Given the description of an element on the screen output the (x, y) to click on. 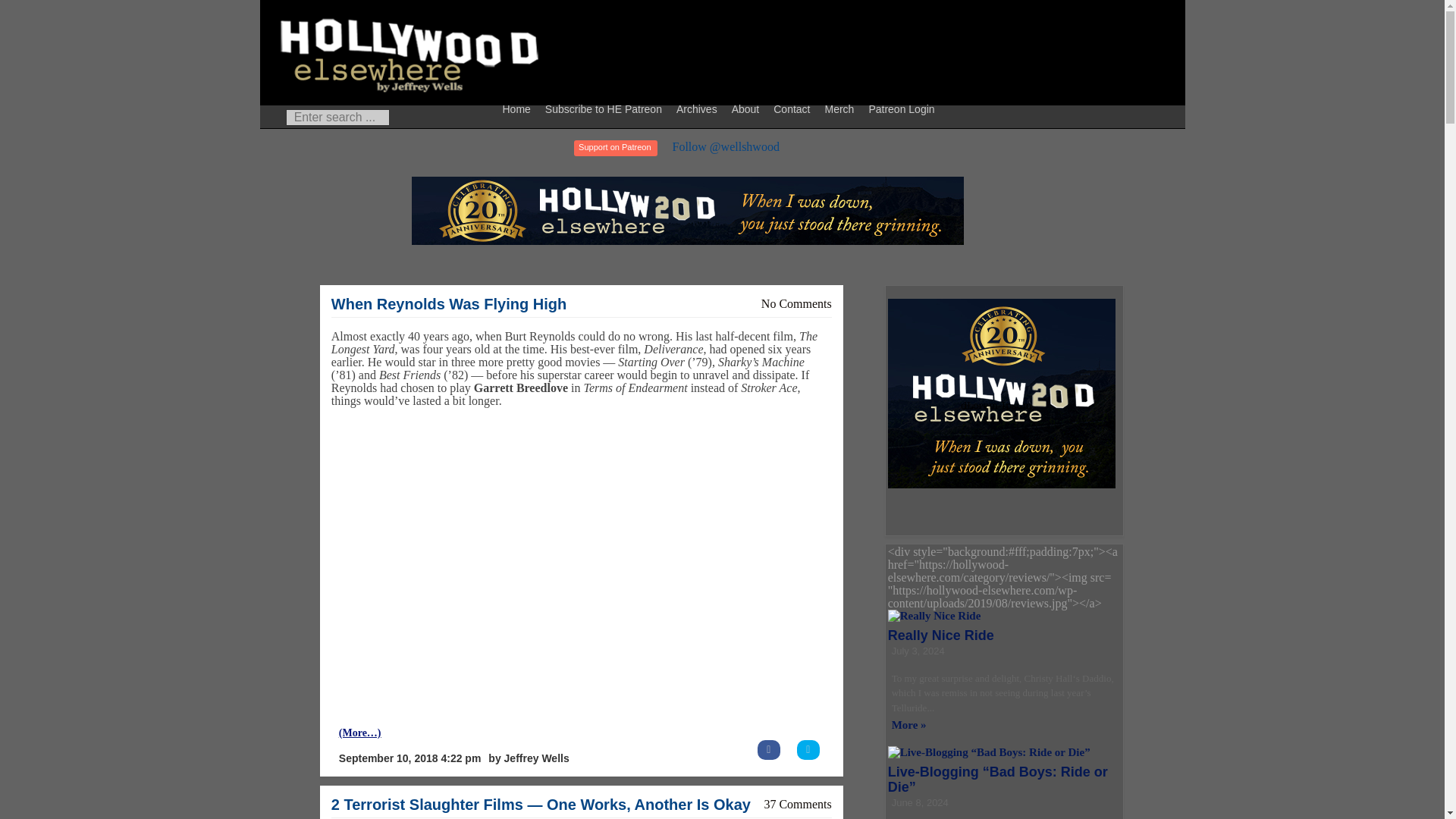
by Jeffrey Wells (528, 758)
Merch (841, 108)
When Reynolds Was Flying High (448, 303)
37 Comments (796, 803)
September 10, 2018 4:22 pm (409, 758)
Archives (698, 108)
Permanent Link to When Reynolds Was Flying High (448, 303)
Subscribe to HE Patreon (605, 108)
Contact (793, 108)
About (747, 108)
